Given the description of an element on the screen output the (x, y) to click on. 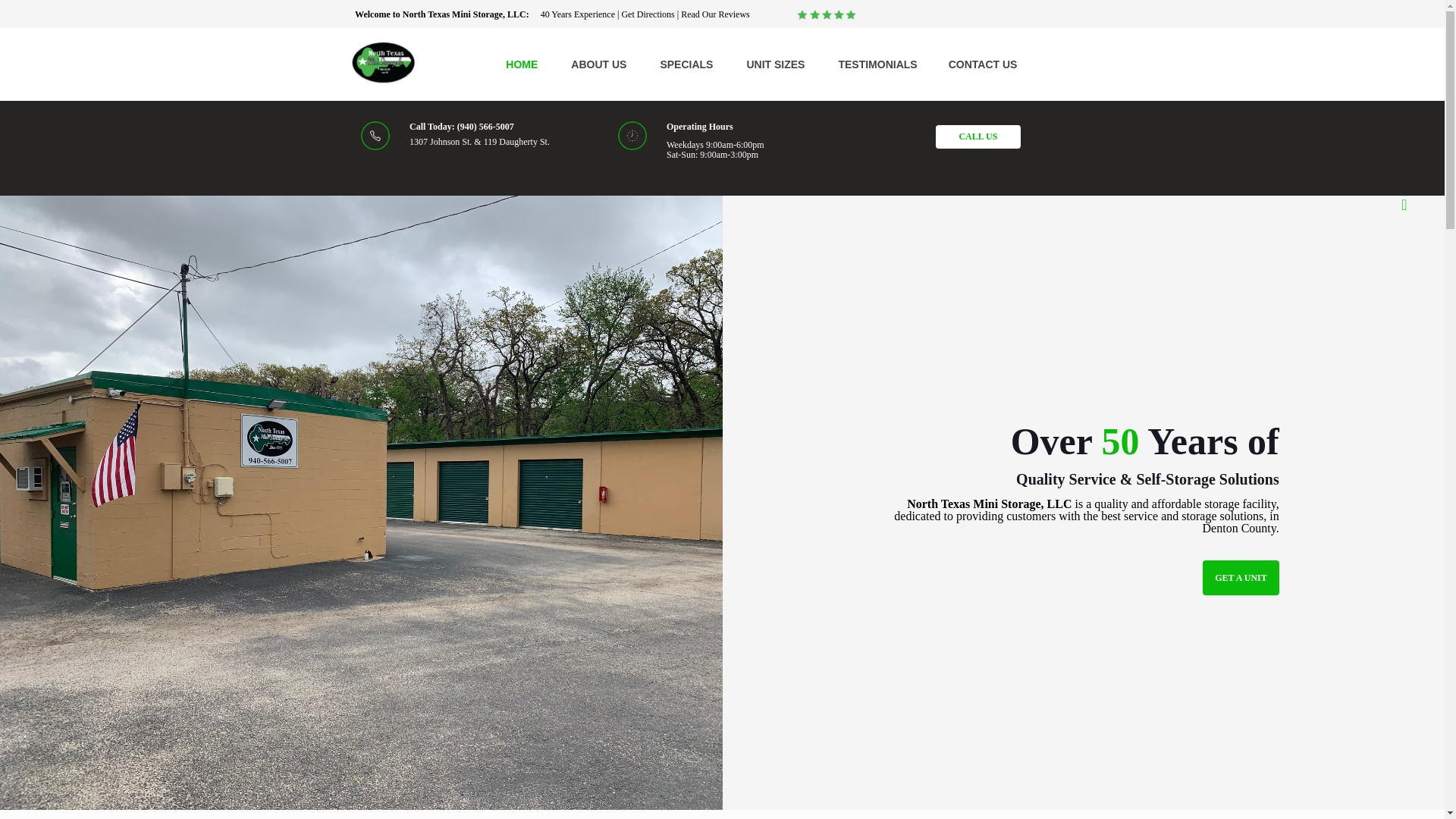
North Texas Mini Storage LLC (383, 61)
HOME (520, 63)
UNIT SIZES (775, 63)
GET A UNIT (1240, 577)
CONTACT US (982, 64)
Read Our Reviews (715, 14)
SPECIALS (685, 63)
Get Directions (647, 14)
ABOUT US (597, 63)
TESTIMONIALS (877, 63)
CALL US (978, 136)
